Given the description of an element on the screen output the (x, y) to click on. 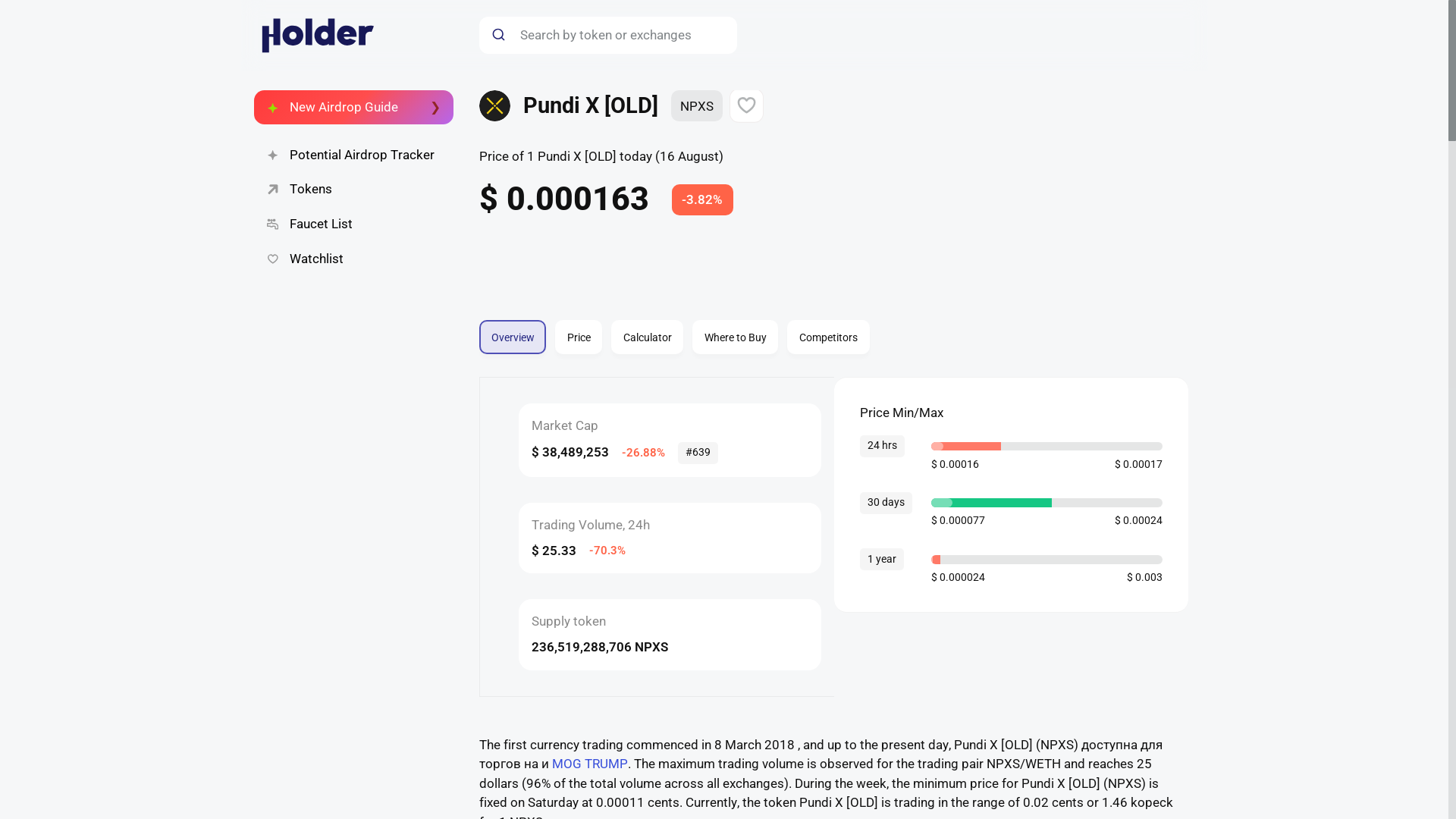
Overview (512, 336)
New Airdrop Guide (833, 327)
Tokens (352, 106)
Change in the last 24 hours (352, 189)
Watchlist (702, 199)
PundiX (352, 258)
Faucet List (828, 328)
pundix.com (352, 224)
Where to Buy (524, 328)
